Given the description of an element on the screen output the (x, y) to click on. 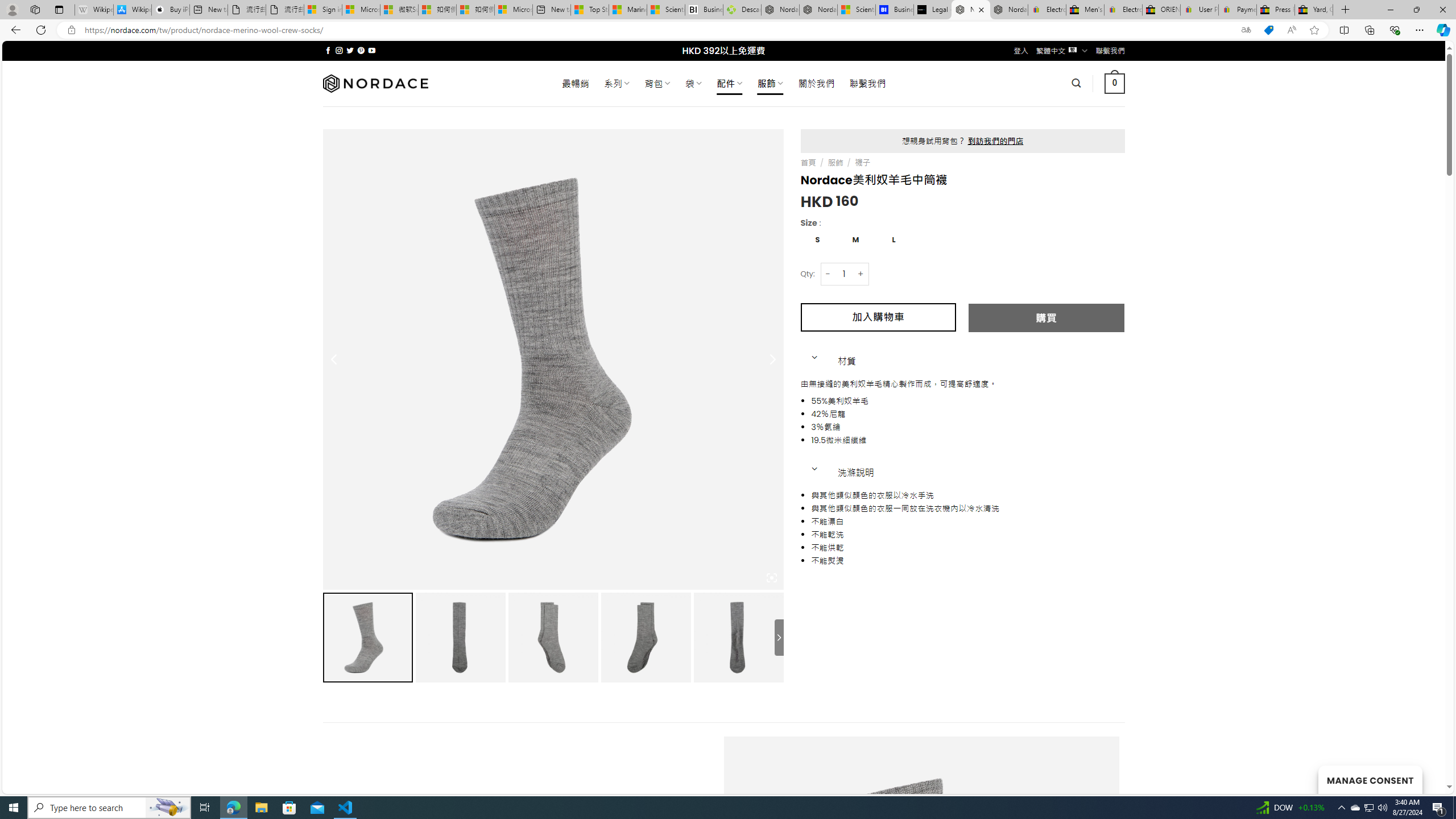
Follow on Pinterest (360, 50)
Class: iconic-woothumbs-fullscreen (771, 577)
- (827, 273)
